Given the description of an element on the screen output the (x, y) to click on. 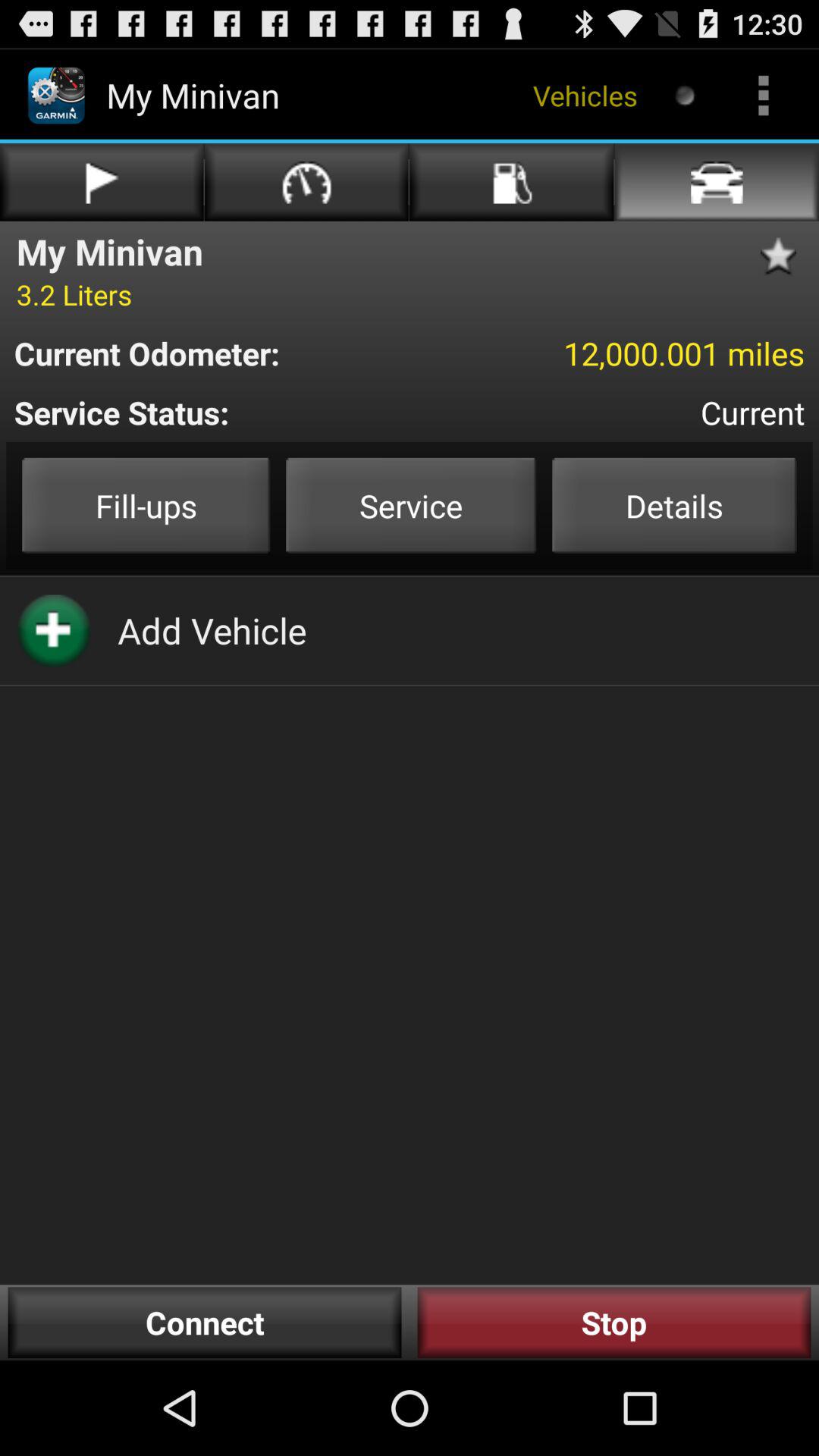
launch fill-ups icon (146, 505)
